Given the description of an element on the screen output the (x, y) to click on. 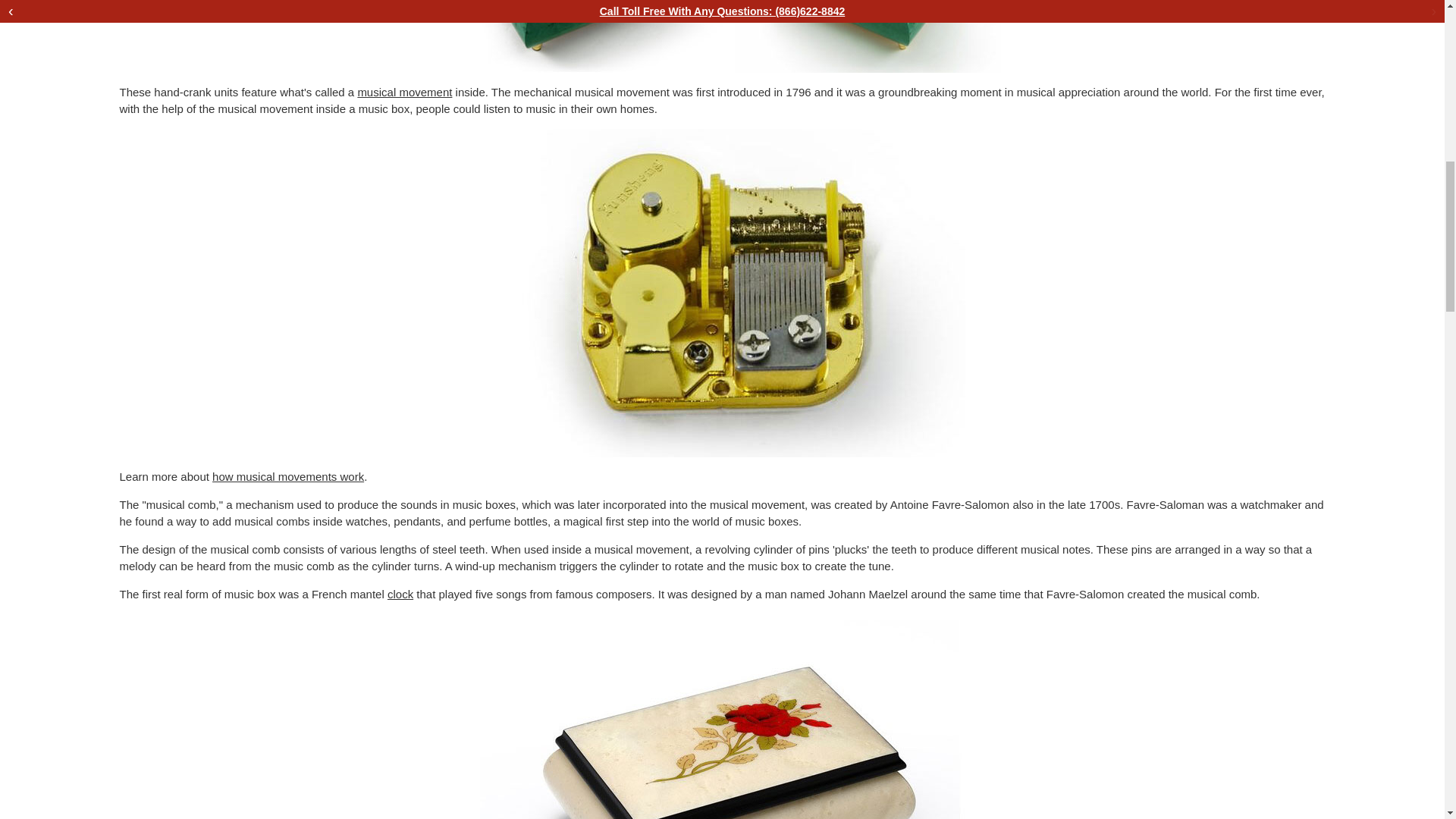
Traditional Ivory Rose Inlay Music Box (721, 719)
Traditional Wood Inlay Music Box (722, 36)
